Given the description of an element on the screen output the (x, y) to click on. 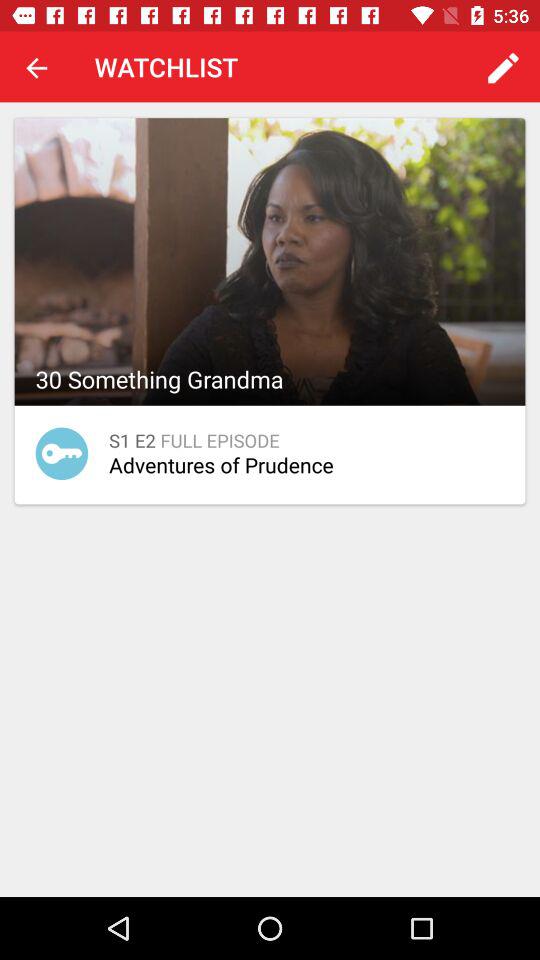
click on edit icon (503, 67)
click on the image above s1 e2 full episode (269, 262)
click on the image above s1 e2 full episode (269, 262)
click on the blue button in the page (62, 454)
click on the icon at top right corner of the page (503, 67)
